Given the description of an element on the screen output the (x, y) to click on. 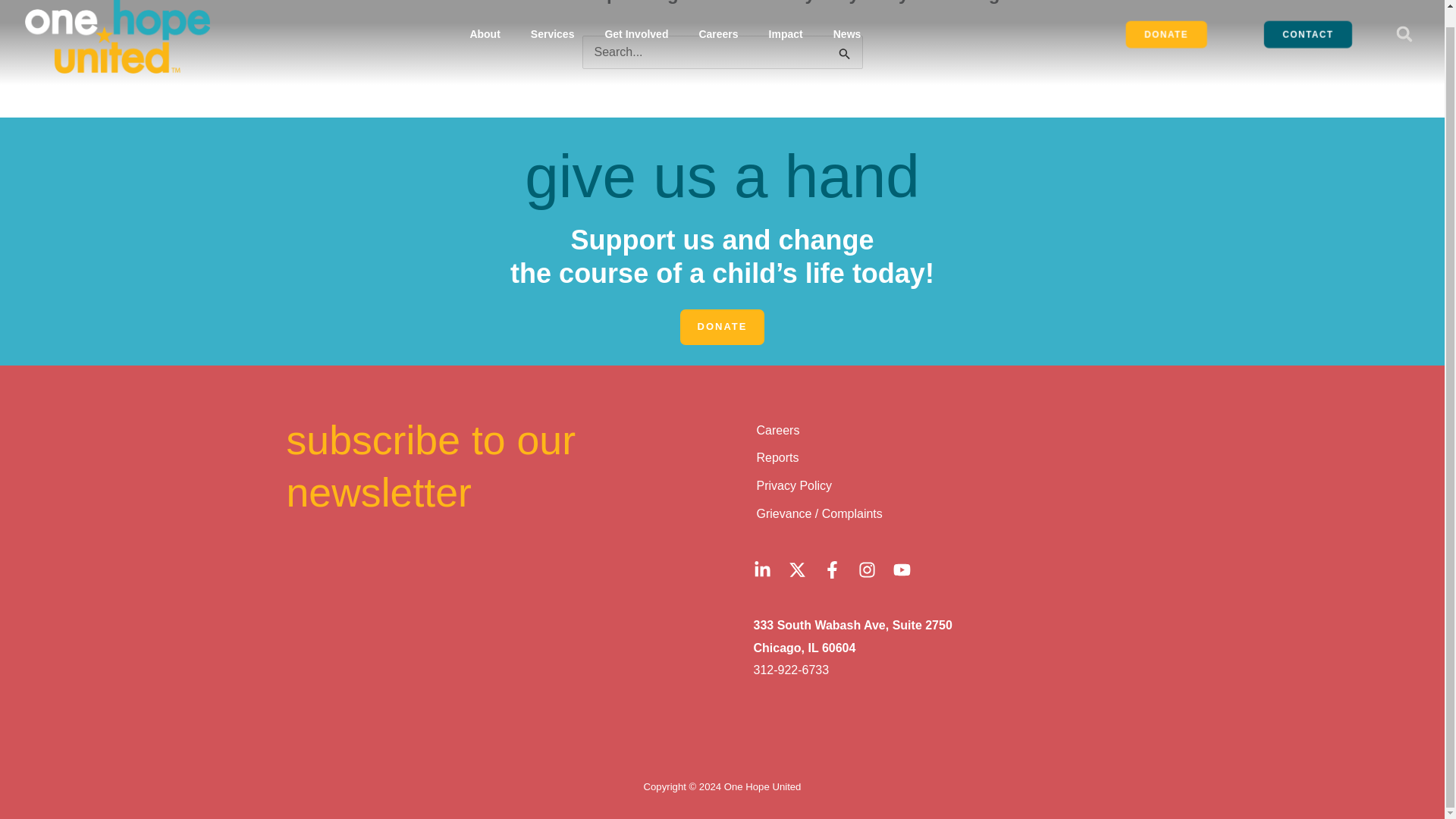
Get Involved (635, 33)
About (484, 33)
Services (552, 33)
Search (844, 54)
Impact (786, 33)
Careers (717, 33)
Search (844, 54)
News (847, 33)
